Given the description of an element on the screen output the (x, y) to click on. 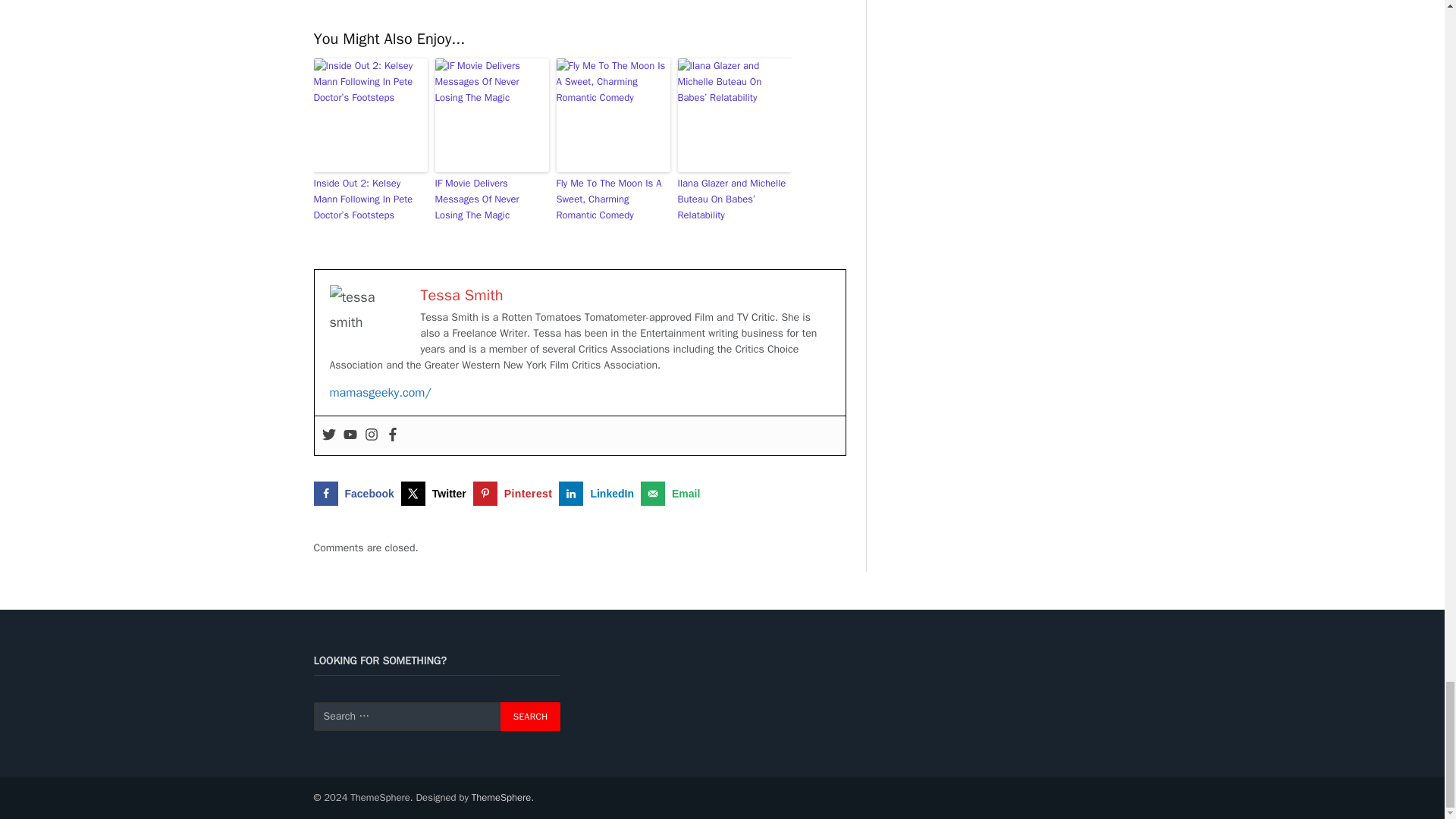
Search (530, 716)
IF Movie Delivers Messages Of Never Losing The Magic (491, 199)
Search (530, 716)
